Given the description of an element on the screen output the (x, y) to click on. 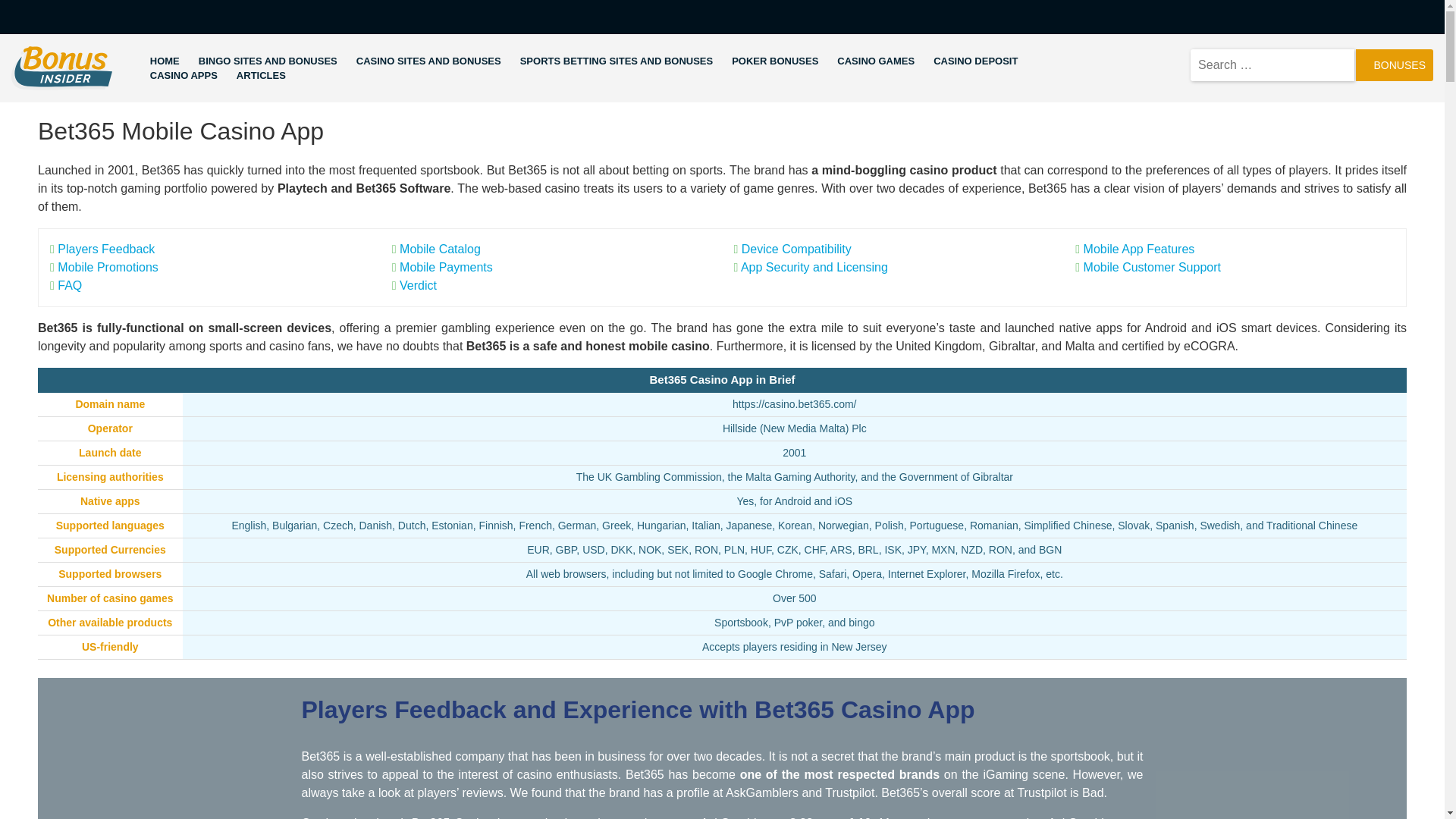
Bonuses (1393, 65)
CASINO SITES AND BONUSES (428, 60)
SPORTS BETTING SITES AND BONUSES (616, 60)
CASINO APPS (182, 75)
CASINO GAMES (875, 60)
CASINO DEPOSIT (975, 60)
Bonuses (1393, 65)
POKER BONUSES (775, 60)
HOME (164, 60)
